Given the description of an element on the screen output the (x, y) to click on. 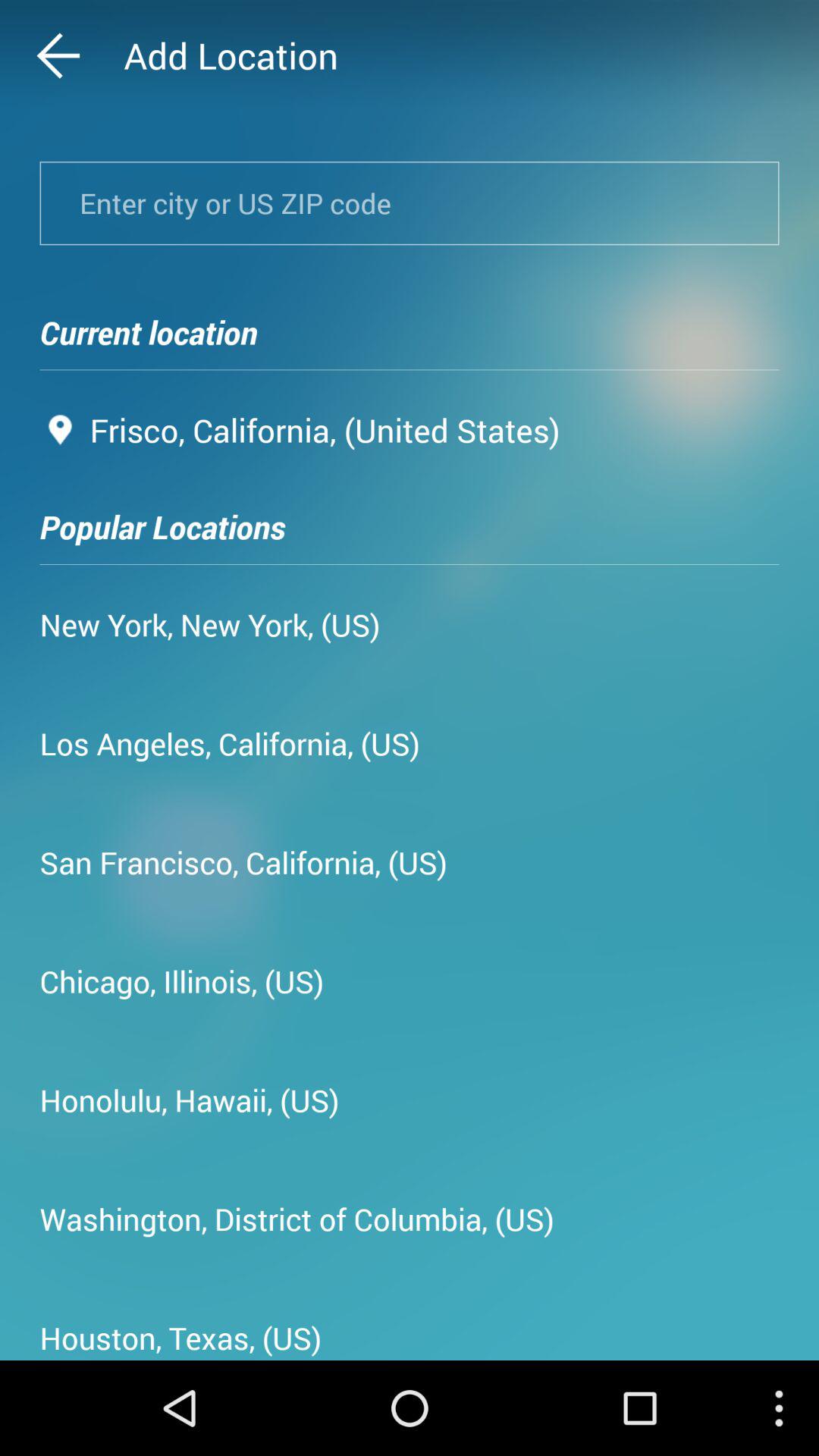
scroll to the honolulu, hawaii, (us) (189, 1099)
